Given the description of an element on the screen output the (x, y) to click on. 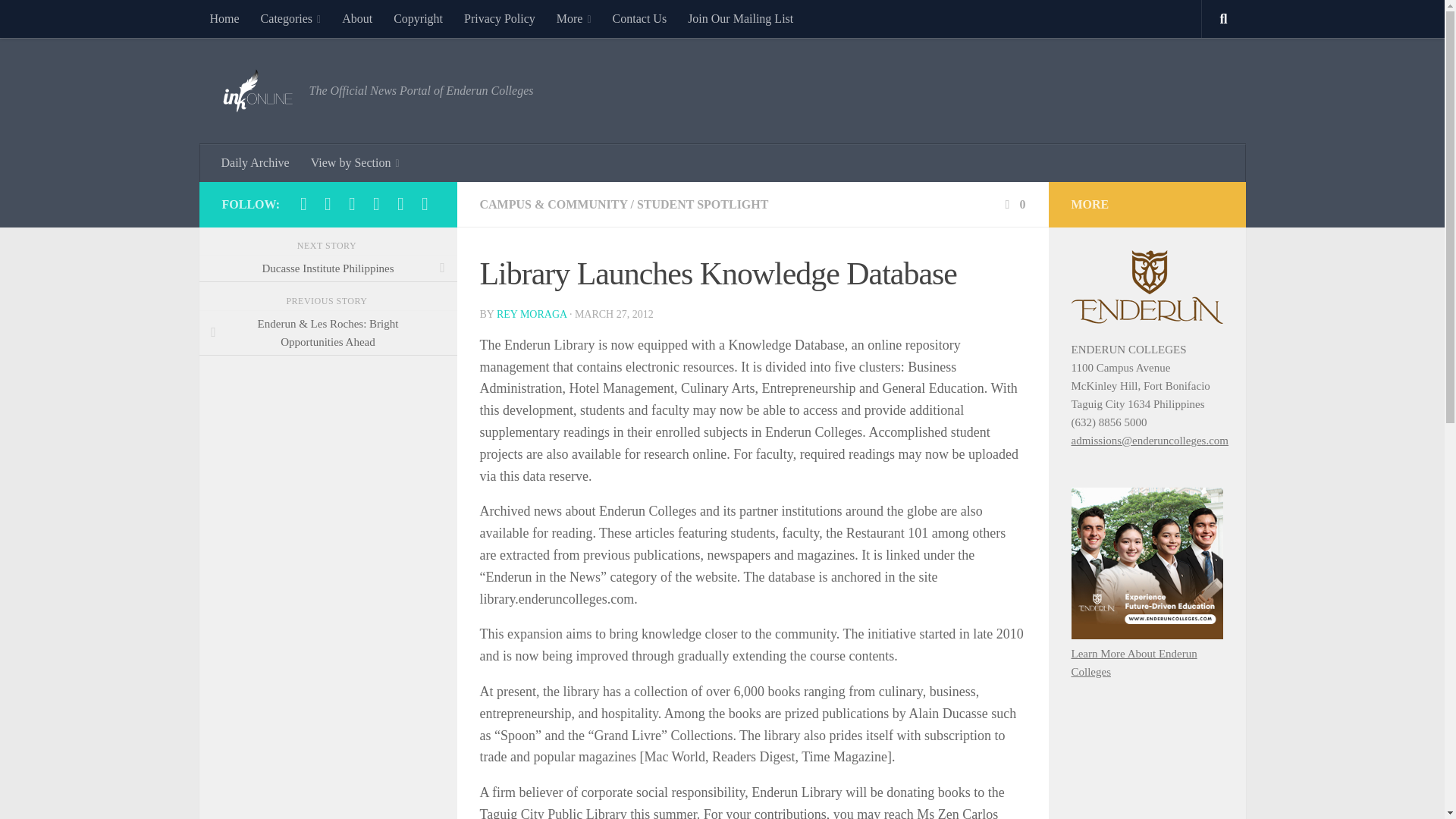
About (356, 18)
Contact Us (640, 18)
Categories (290, 18)
Skip to content (59, 20)
Home (223, 18)
Privacy Policy (499, 18)
Copyright (417, 18)
